Given the description of an element on the screen output the (x, y) to click on. 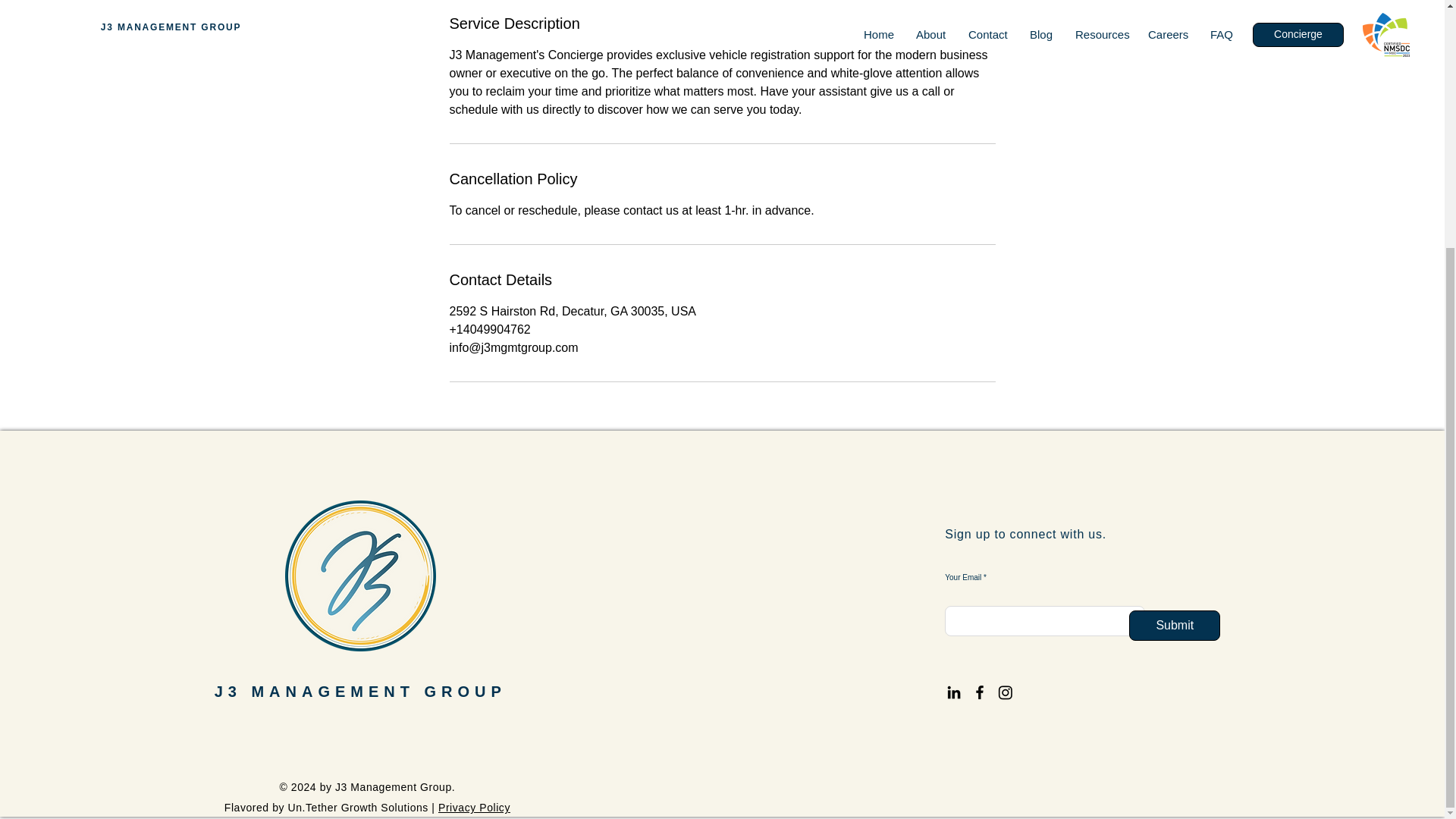
J3 MANAGEMENT GROUP (360, 691)
Website Logo.png (360, 575)
Submit (1174, 625)
Privacy Policy (474, 807)
